Given the description of an element on the screen output the (x, y) to click on. 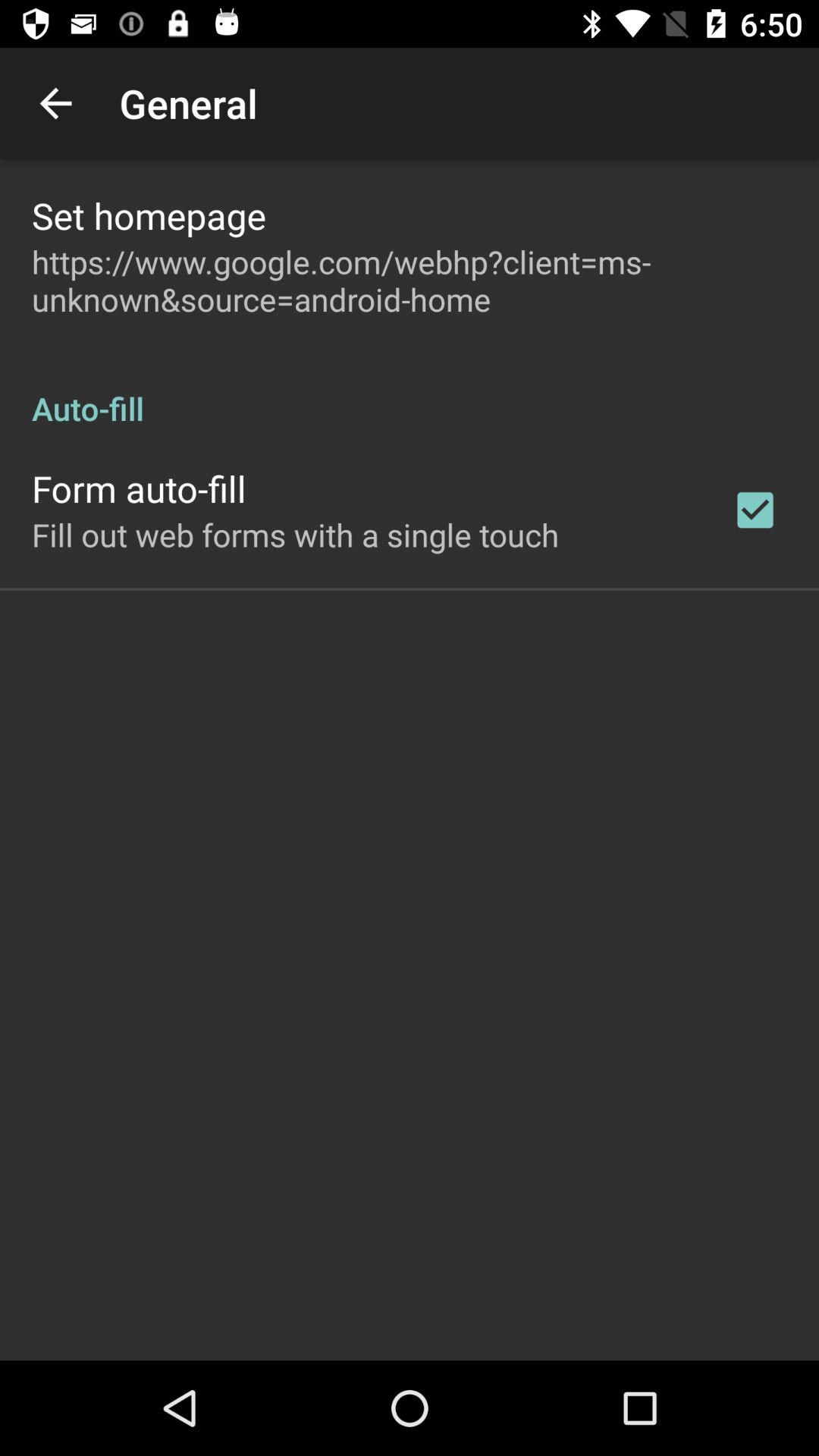
open fill out web item (295, 534)
